Given the description of an element on the screen output the (x, y) to click on. 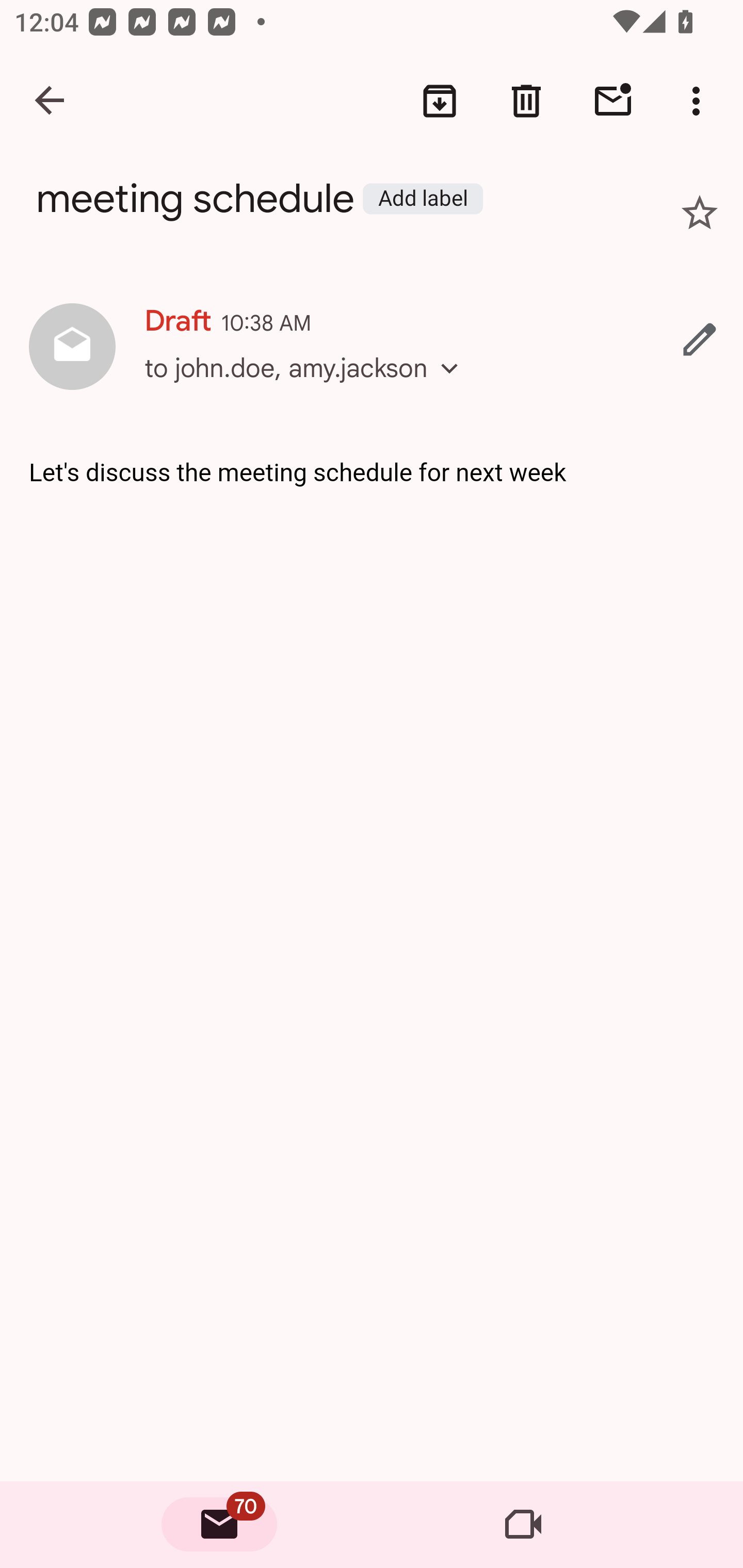
Navigate up (50, 101)
Archive (439, 101)
Discard drafts (525, 101)
Mark unread (612, 101)
More options (699, 101)
Add star (699, 212)
Draft 10:38 AM to john.doe, amy.jackson Edit (371, 347)
Edit (699, 339)
to john.doe, amy.jackson (307, 386)
Meet (523, 1524)
